Given the description of an element on the screen output the (x, y) to click on. 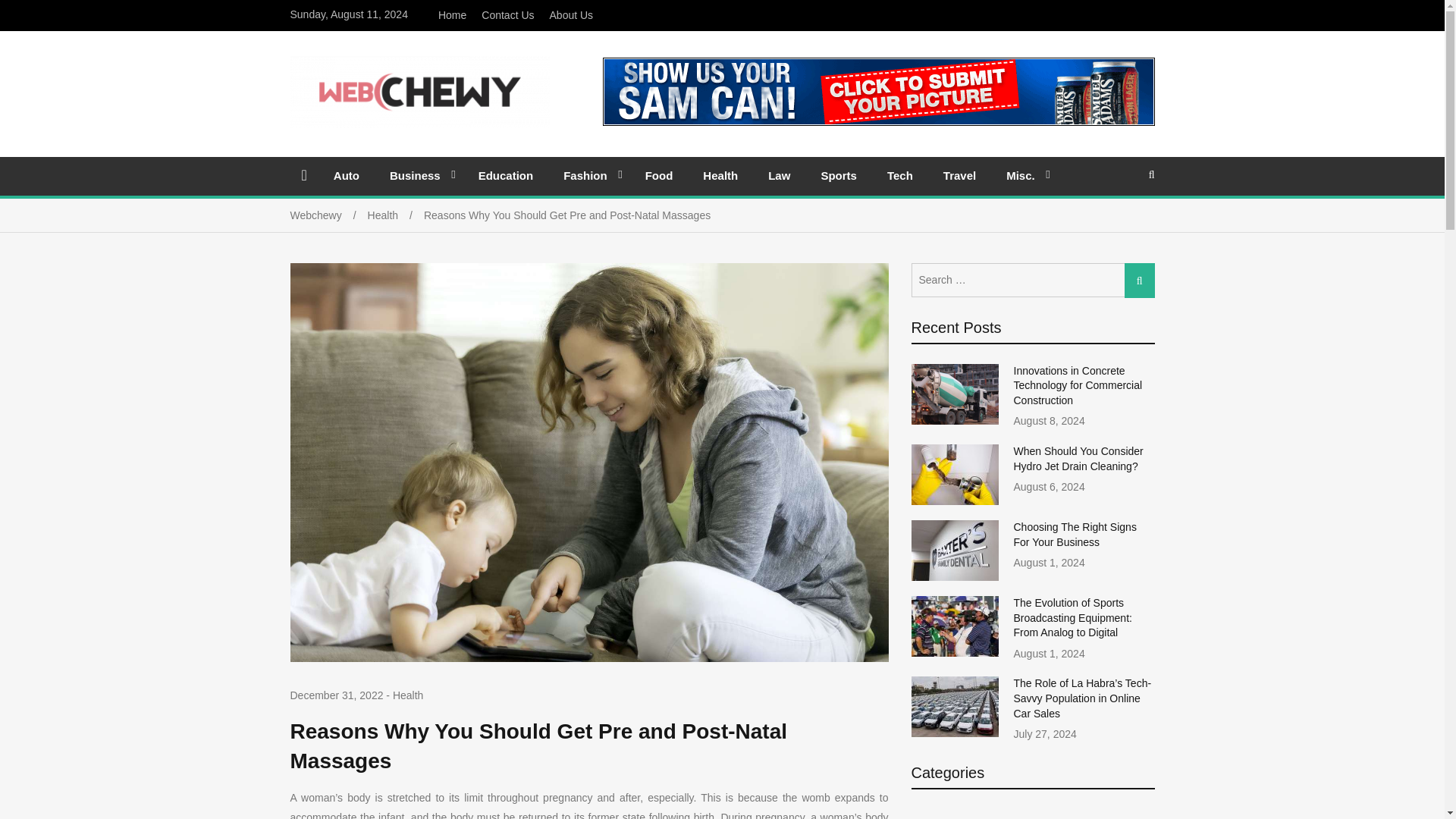
Health (395, 215)
Business (418, 175)
Contact Us (507, 15)
Webchewy (327, 215)
Travel (959, 175)
Law (778, 175)
Health (719, 175)
About Us (571, 15)
Food (659, 175)
Sports (838, 175)
